Given the description of an element on the screen output the (x, y) to click on. 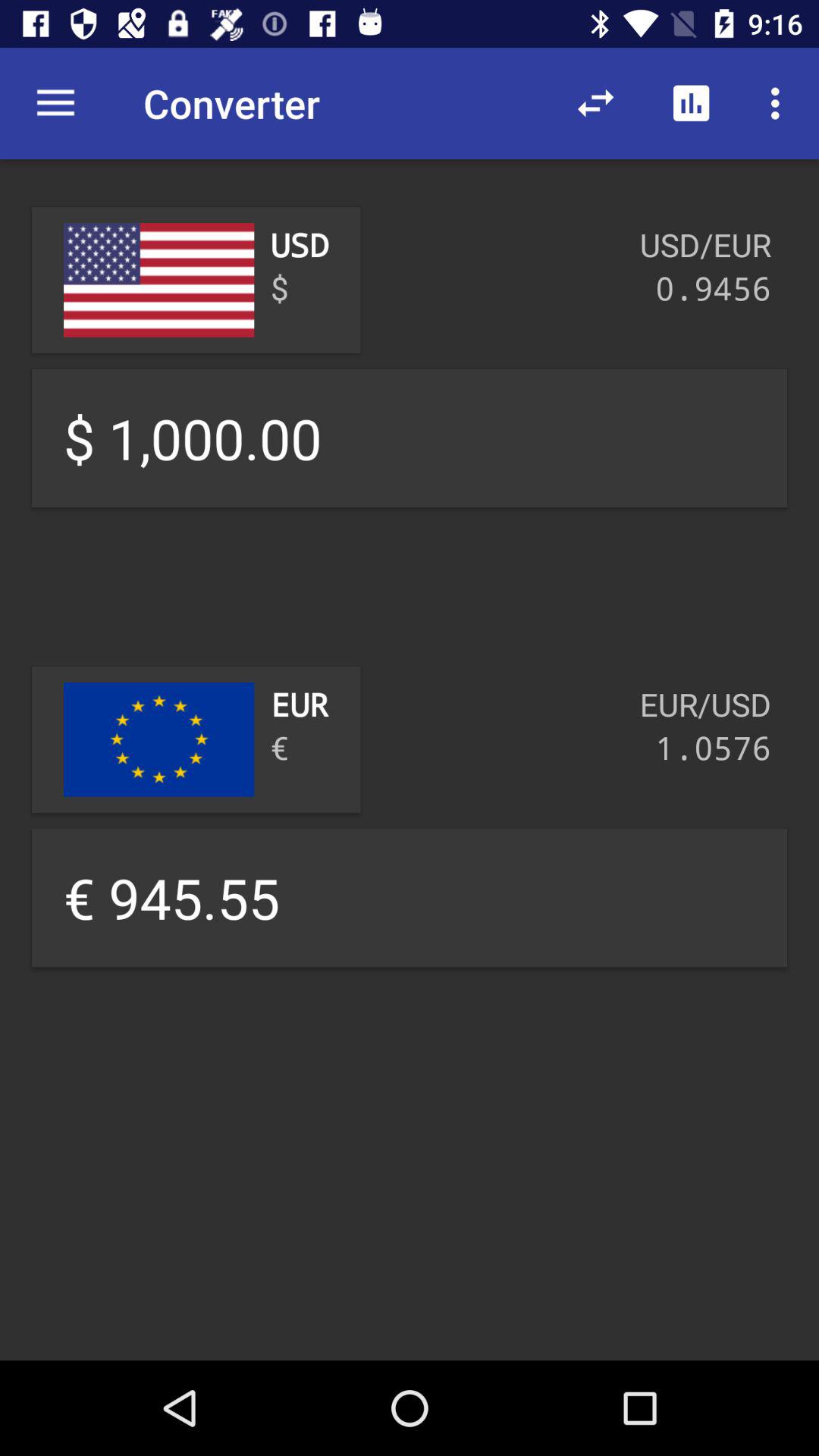
launch item to the left of converter icon (55, 103)
